Given the description of an element on the screen output the (x, y) to click on. 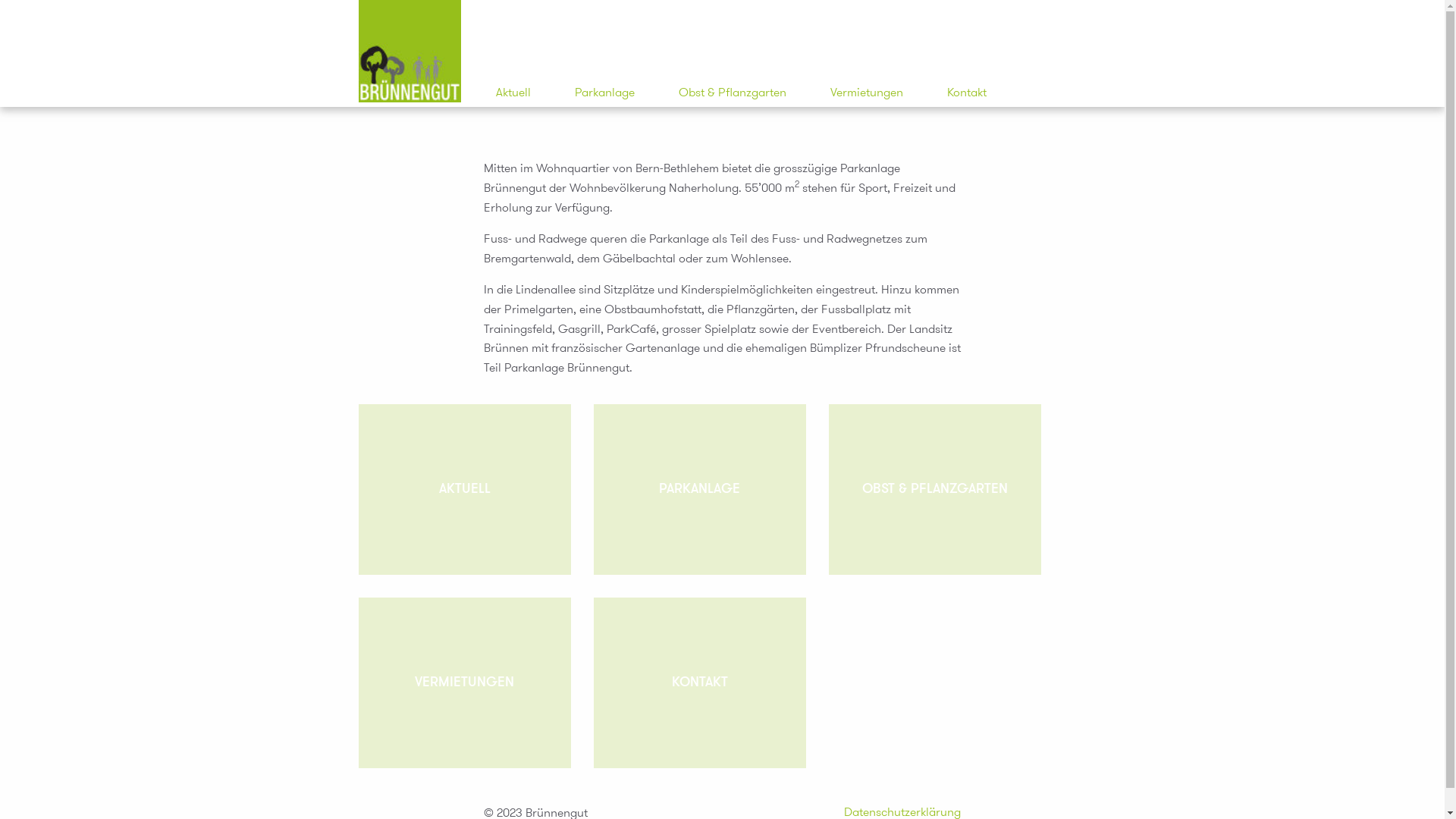
OBST & PFLANZGARTEN Element type: text (934, 489)
PARKANLAGE Element type: text (699, 489)
Vermietungen Element type: text (865, 92)
Obst & Pflanzgarten Element type: text (731, 92)
Aktuell Element type: text (512, 92)
AKTUELL Element type: text (463, 489)
Parkanlage Element type: text (604, 92)
KONTAKT Element type: text (699, 682)
Kontakt Element type: text (965, 92)
VERMIETUNGEN Element type: text (463, 682)
